Given the description of an element on the screen output the (x, y) to click on. 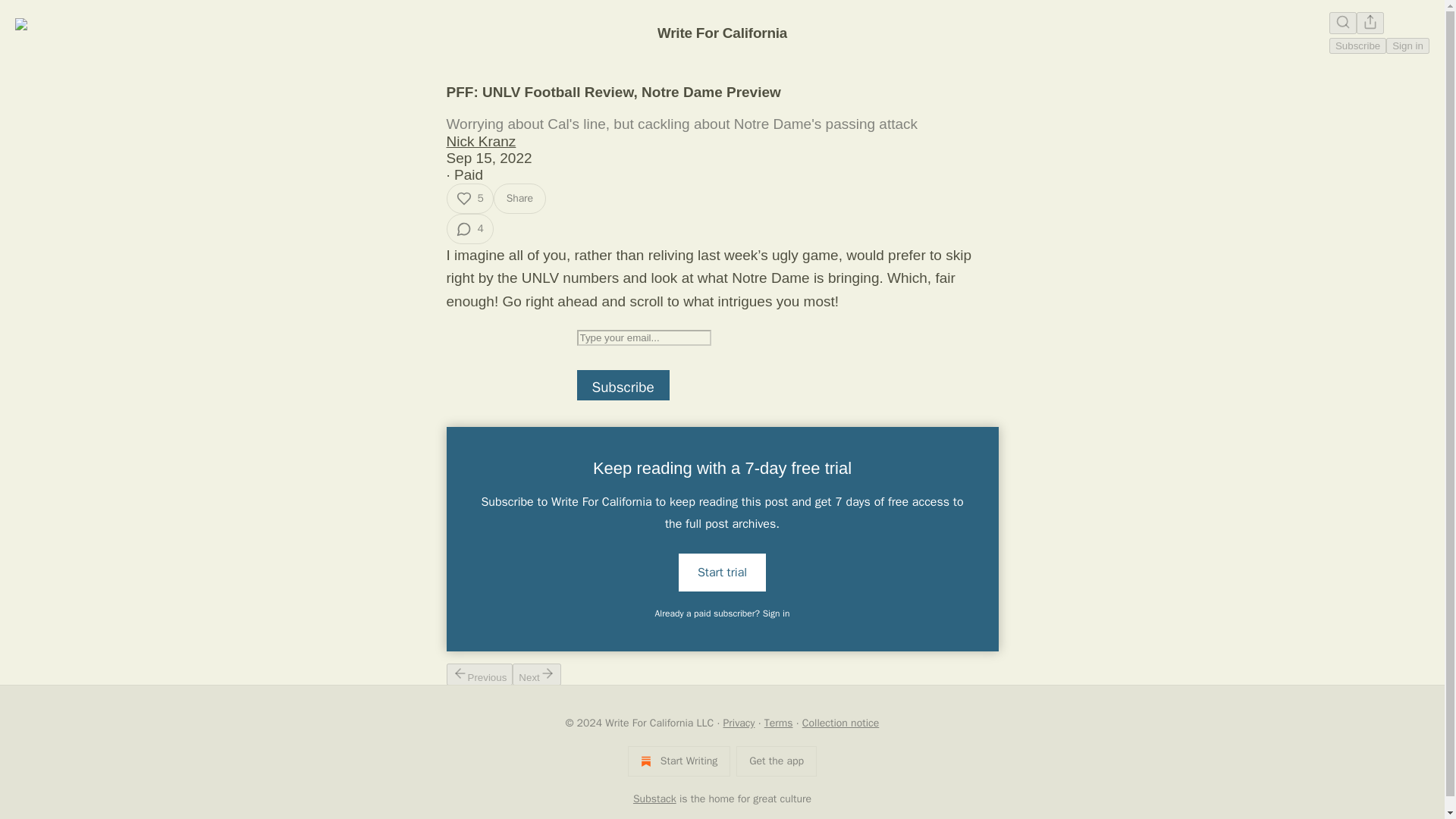
Start Writing (678, 761)
Start trial (721, 572)
Privacy (739, 722)
Sign in (1407, 45)
Collection notice (840, 722)
4 (469, 228)
Write For California (722, 32)
Start trial (721, 571)
Previous (478, 674)
Next (536, 674)
